Given the description of an element on the screen output the (x, y) to click on. 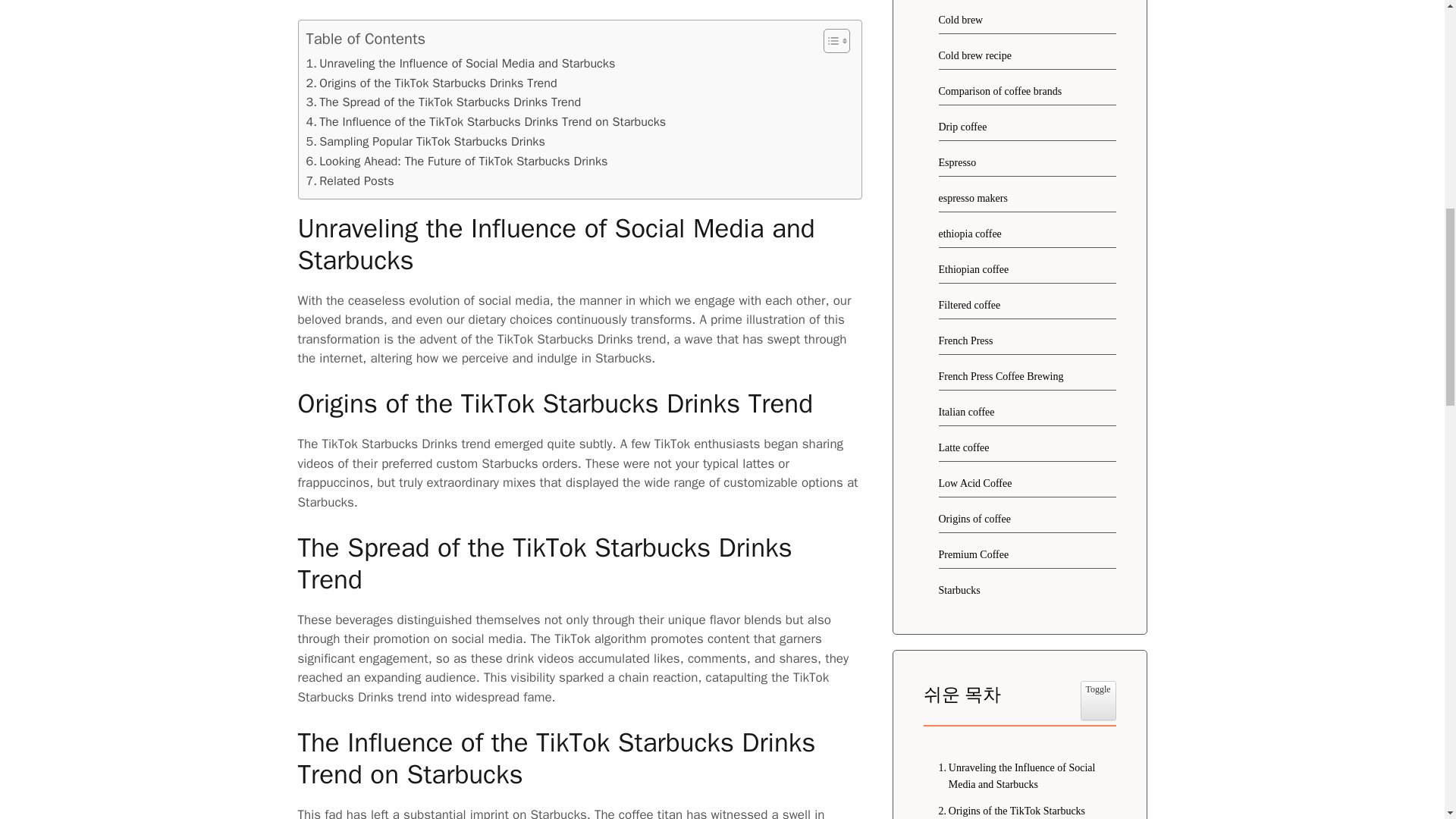
Related Posts (349, 180)
Sampling Popular TikTok Starbucks Drinks (424, 141)
Unraveling the Influence of Social Media and Starbucks (460, 63)
Unraveling the Influence of Social Media and Starbucks (460, 63)
Unraveling the Influence of Social Media and Starbucks (1019, 776)
The Spread of the TikTok Starbucks Drinks Trend (442, 102)
Origins of the TikTok Starbucks Drinks Trend (1019, 811)
Origins of the TikTok Starbucks Drinks Trend (431, 83)
Looking Ahead: The Future of TikTok Starbucks Drinks (456, 161)
Sampling Popular TikTok Starbucks Drinks (424, 141)
Related Posts (349, 180)
Scroll back to top (1406, 720)
Looking Ahead: The Future of TikTok Starbucks Drinks (456, 161)
